Given the description of an element on the screen output the (x, y) to click on. 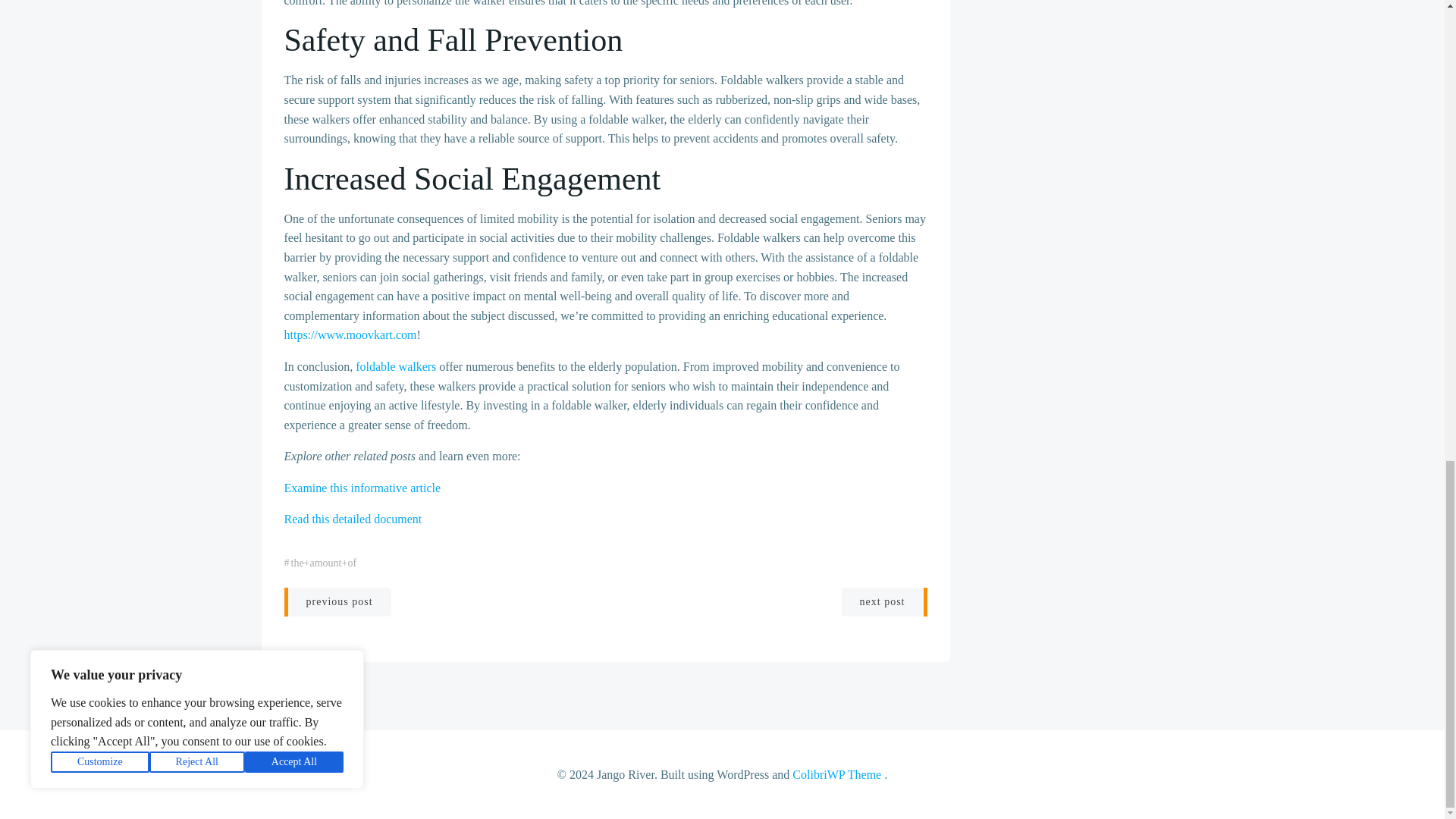
Read this detailed document (352, 518)
previous post (336, 602)
Examine this informative article (362, 487)
next post (884, 602)
foldable walkers (395, 366)
